Given the description of an element on the screen output the (x, y) to click on. 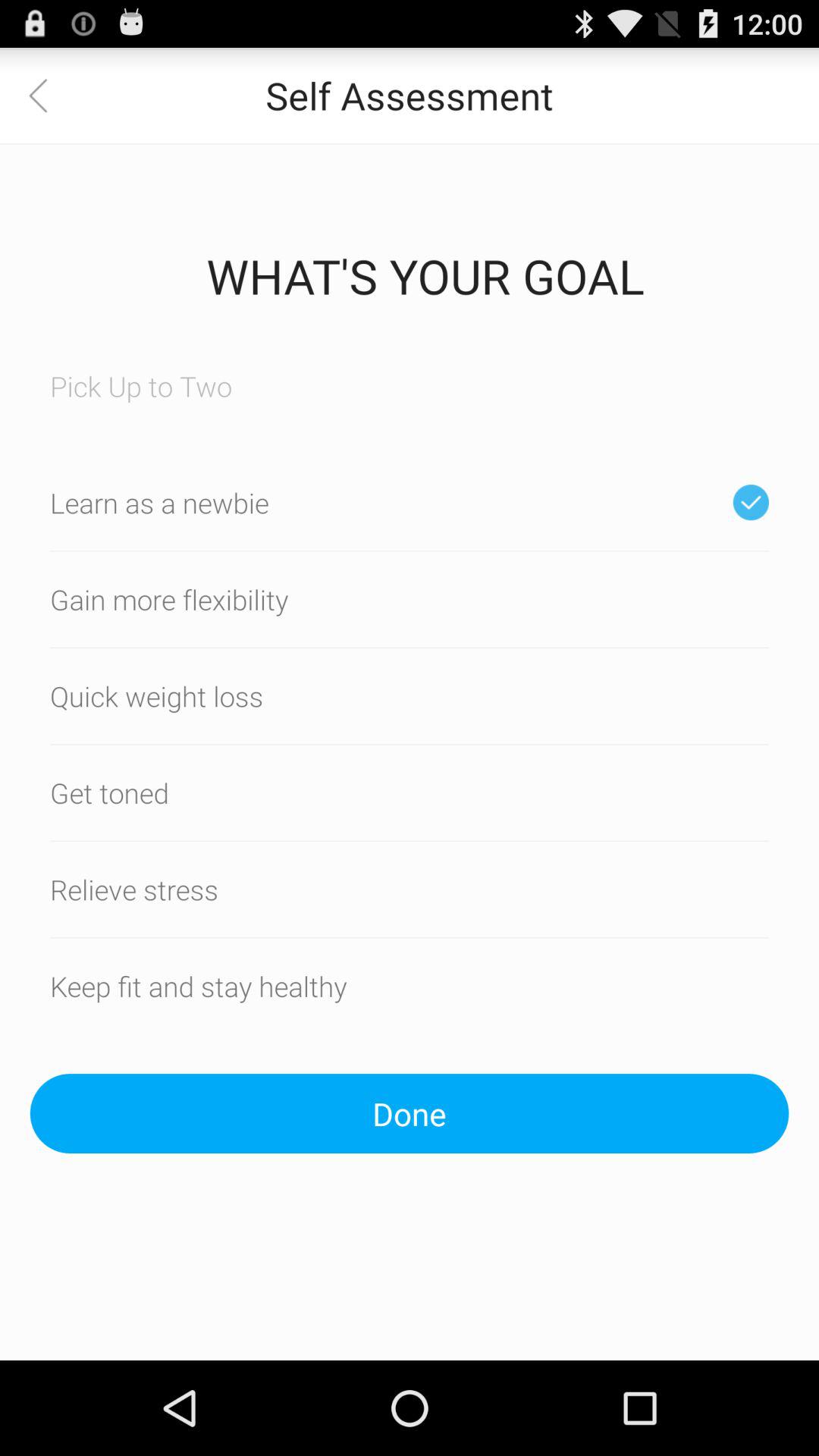
tap the icon at the top left corner (47, 95)
